Given the description of an element on the screen output the (x, y) to click on. 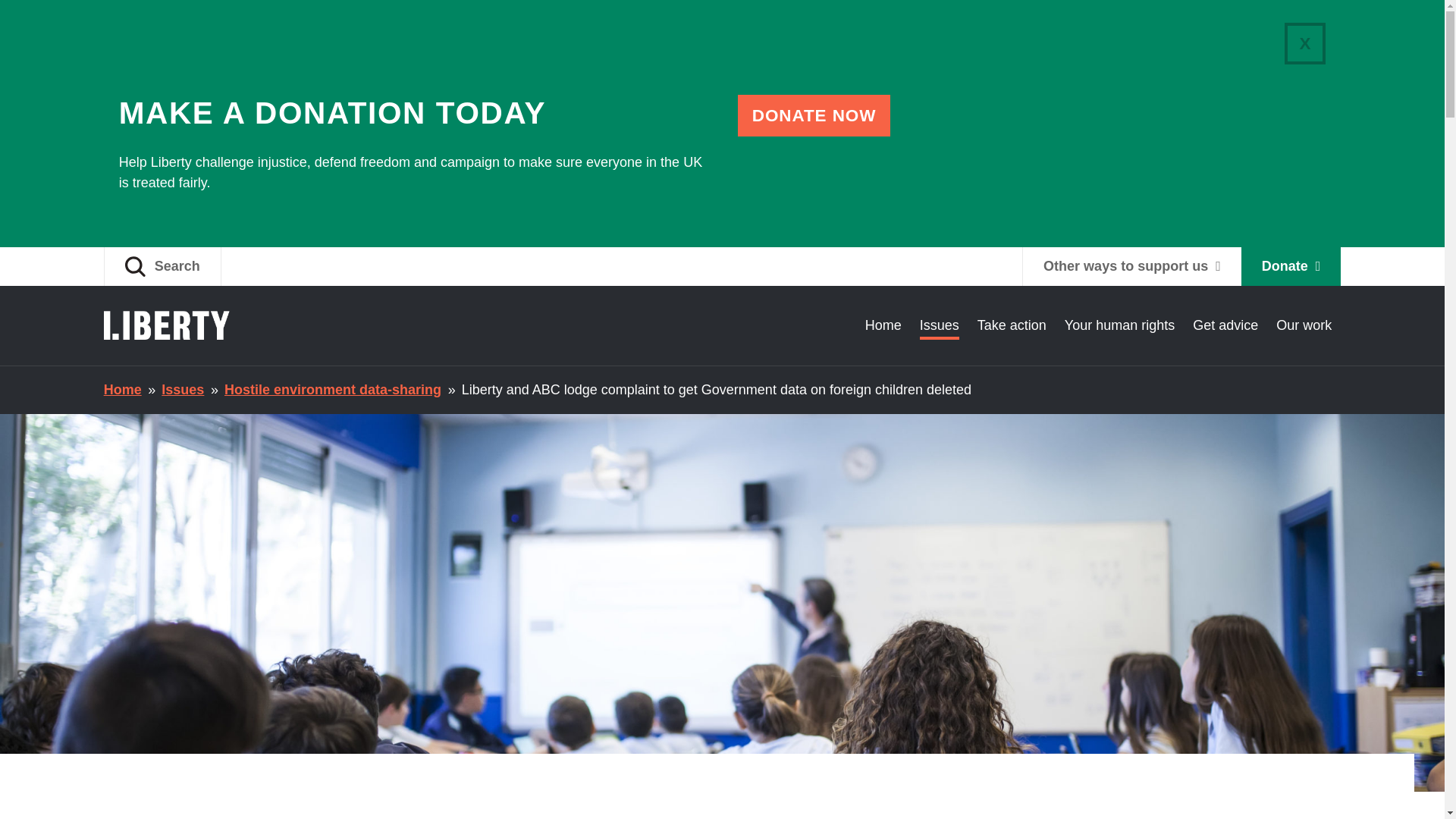
Home (882, 325)
Donate (1290, 266)
Other ways to support us (1131, 266)
Hostile environment data-sharing (332, 389)
Issues (939, 325)
X (1304, 43)
Home (122, 389)
Issues (182, 389)
Search (162, 266)
DONATE NOW (814, 115)
